Given the description of an element on the screen output the (x, y) to click on. 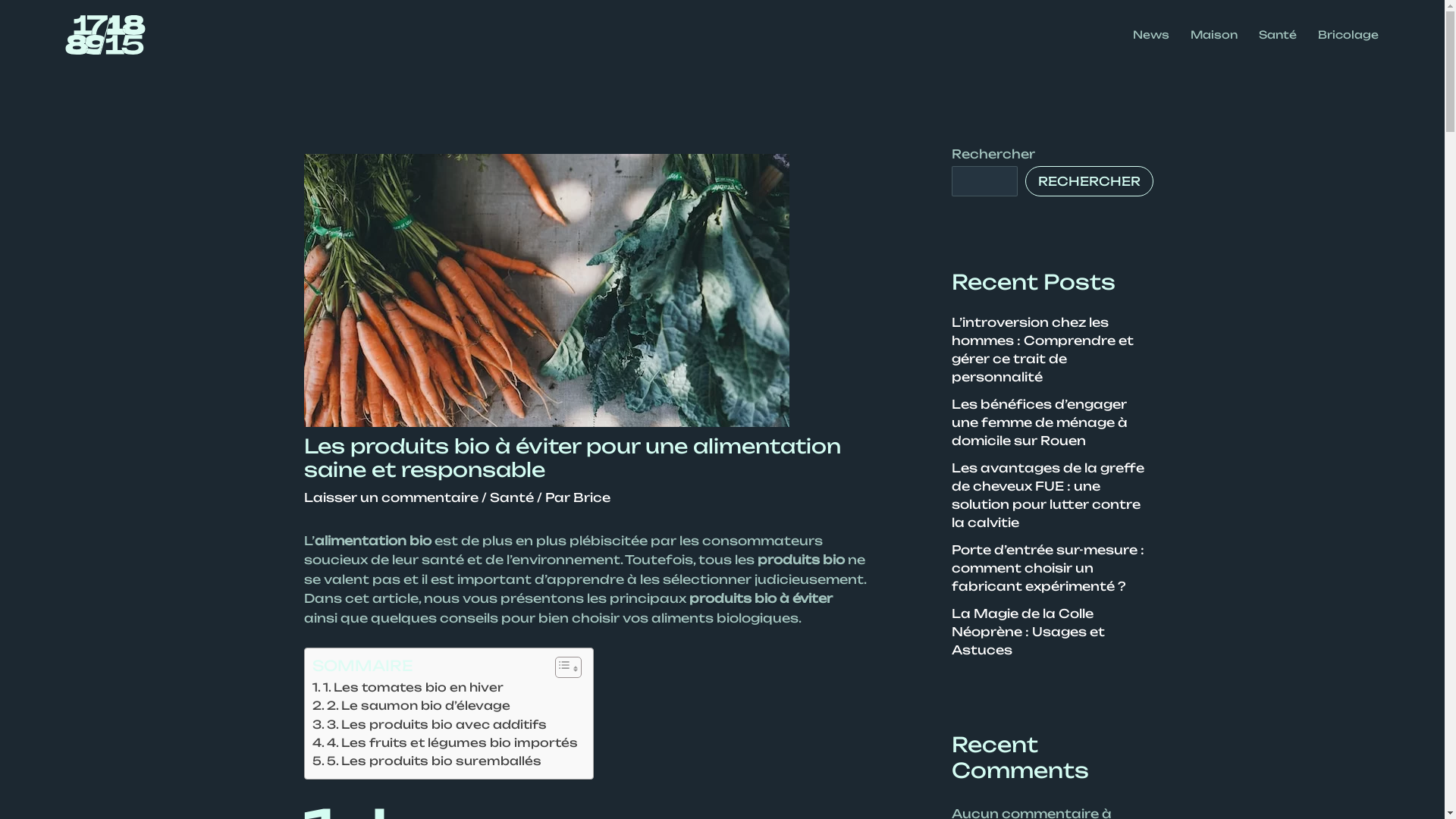
RECHERCHER Element type: text (1089, 181)
3. Les produits bio avec additifs Element type: text (429, 724)
produits bio a eviter Element type: hover (545, 289)
Bricolage Element type: text (1348, 34)
1. Les tomates bio en hiver Element type: text (407, 687)
Maison Element type: text (1213, 34)
News Element type: text (1150, 34)
Brice Element type: text (591, 497)
Laisser un commentaire Element type: text (390, 497)
